Given the description of an element on the screen output the (x, y) to click on. 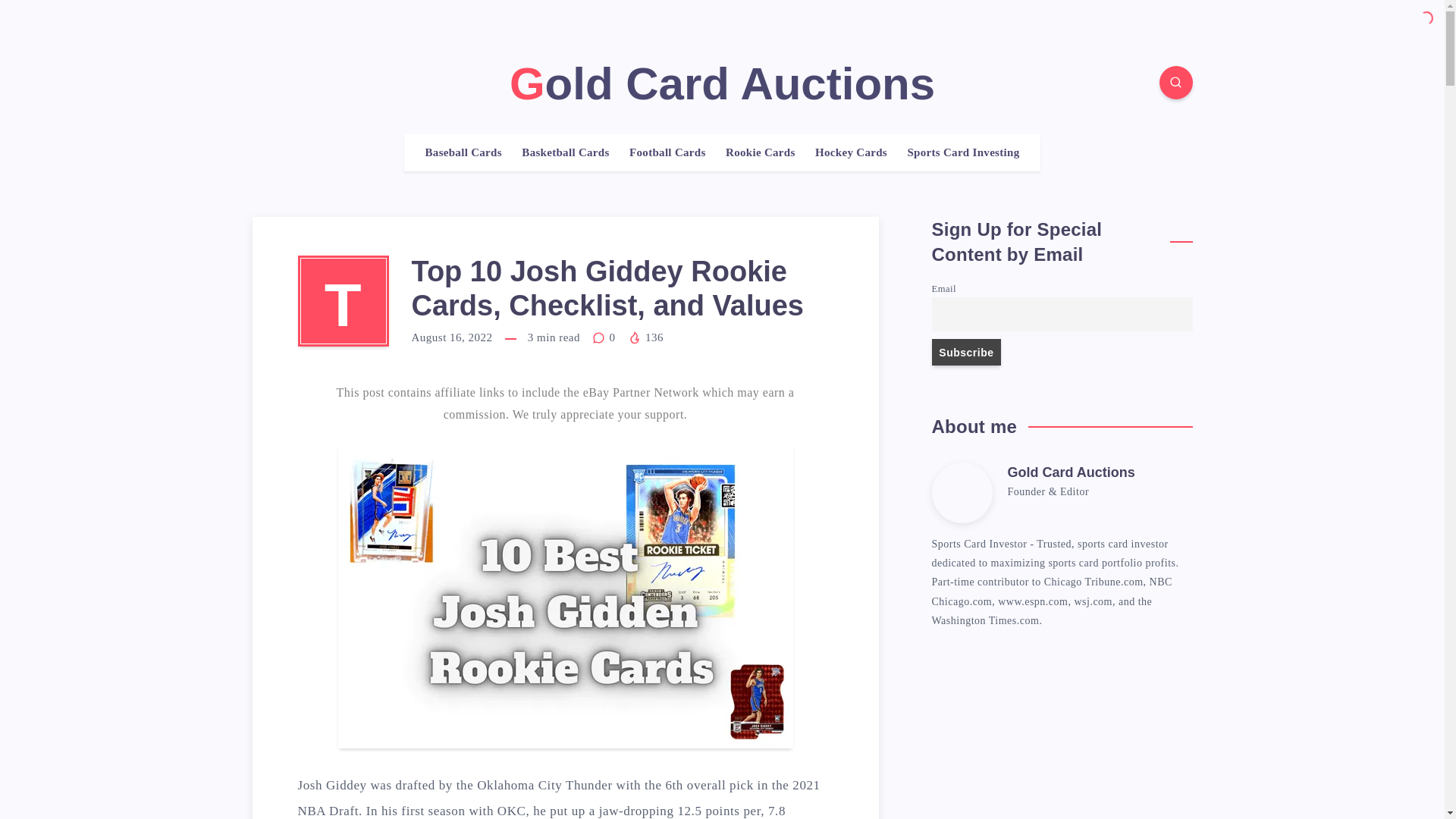
Sports Card Investing (963, 152)
Baseball Cards (463, 152)
Hockey Cards (850, 152)
Football Cards (666, 152)
Rookie Cards (759, 152)
0 Comments (605, 337)
136 Views (645, 337)
Subscribe (966, 352)
0 (605, 337)
Basketball Cards (564, 152)
